Given the description of an element on the screen output the (x, y) to click on. 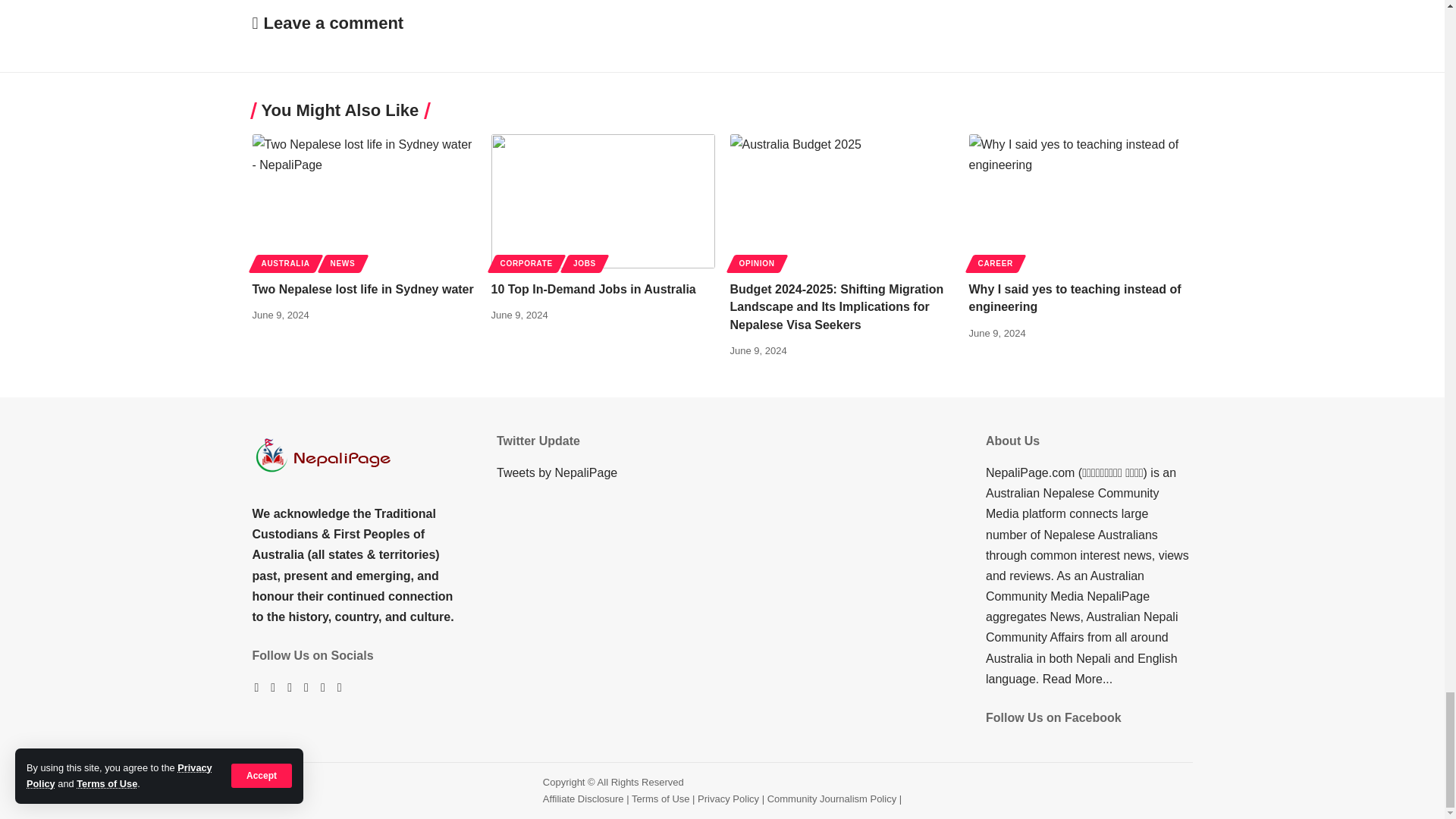
10 Top In-Demand Jobs in Australia (603, 201)
Two Nepalese lost life in Sydney water (363, 201)
